Given the description of an element on the screen output the (x, y) to click on. 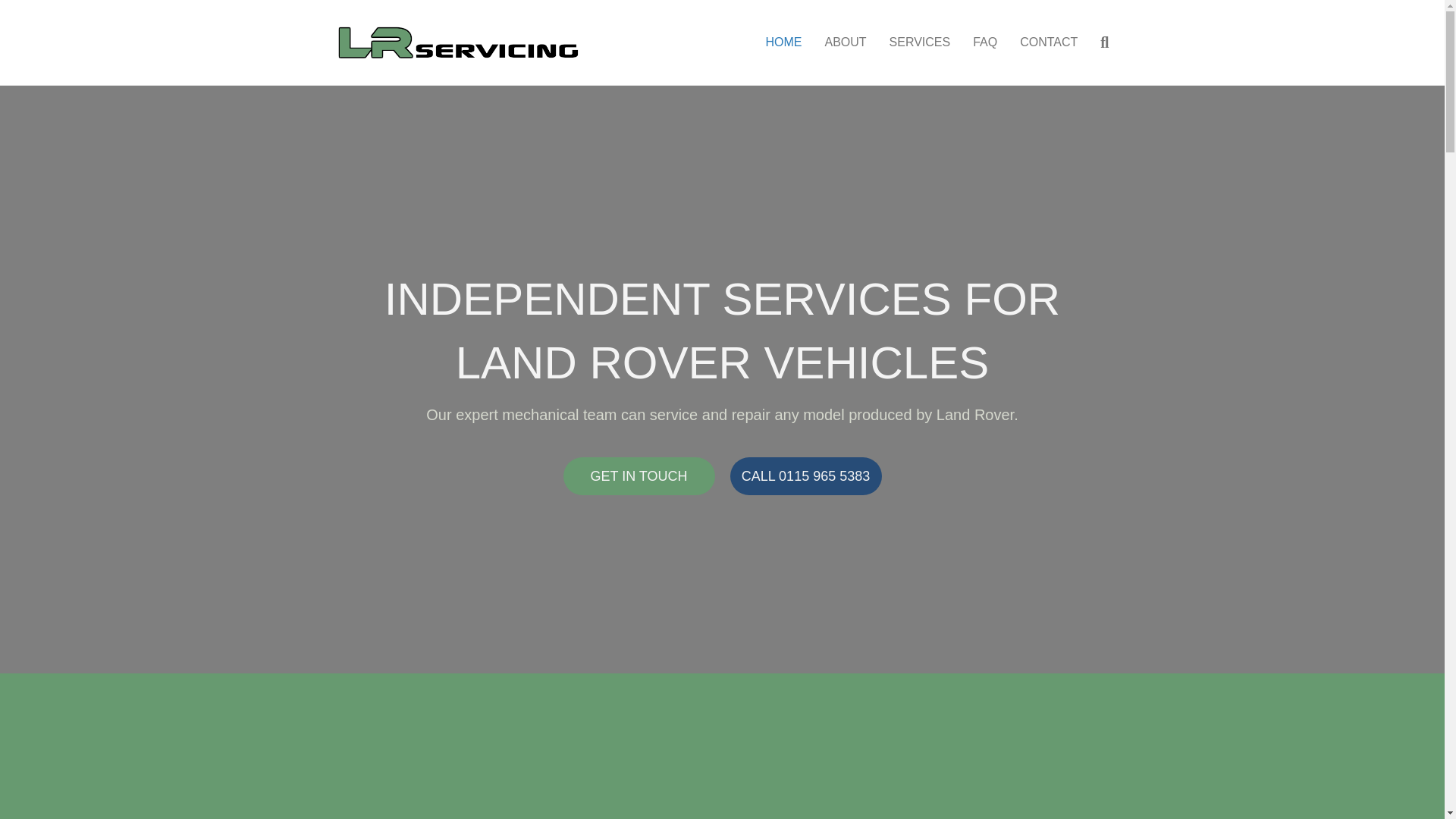
GET IN TOUCH (638, 476)
HOME (783, 42)
SERVICES (919, 42)
CONTACT (1049, 42)
ABOUT (844, 42)
CALL 0115 965 5383 (804, 476)
FAQ (984, 42)
